Given the description of an element on the screen output the (x, y) to click on. 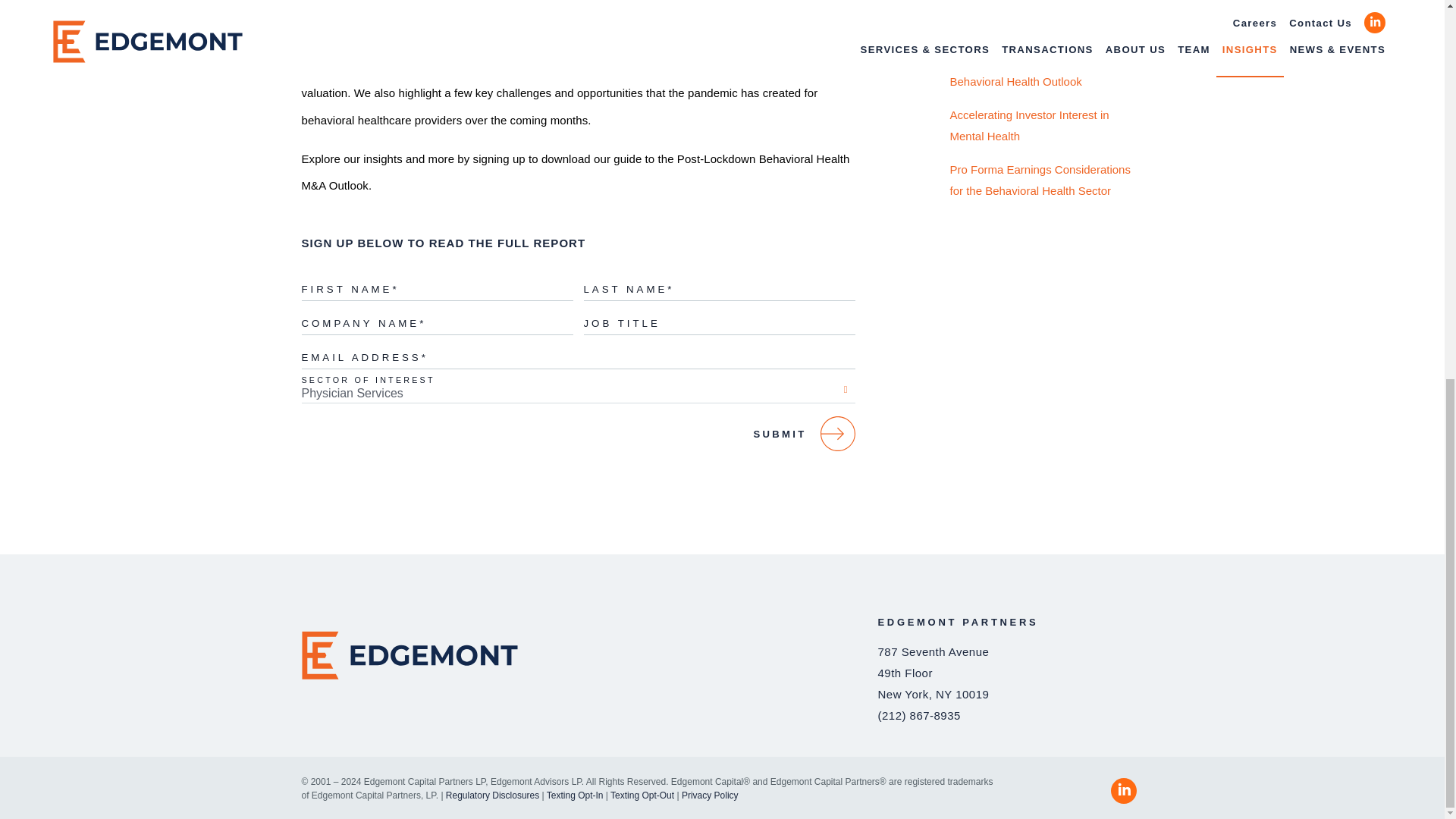
Telehealth (1045, 14)
Accelerating Investor Interest in Mental Health (1045, 125)
Submit (578, 433)
Regulatory Disclosures (491, 795)
Privacy Policy (709, 795)
Behavioral Health Outlook (1045, 81)
Edgemont (578, 655)
Texting Opt-Out (642, 795)
Outpatient Facilities (1045, 2)
Texting Opt-In (575, 795)
Submit (578, 433)
